Given the description of an element on the screen output the (x, y) to click on. 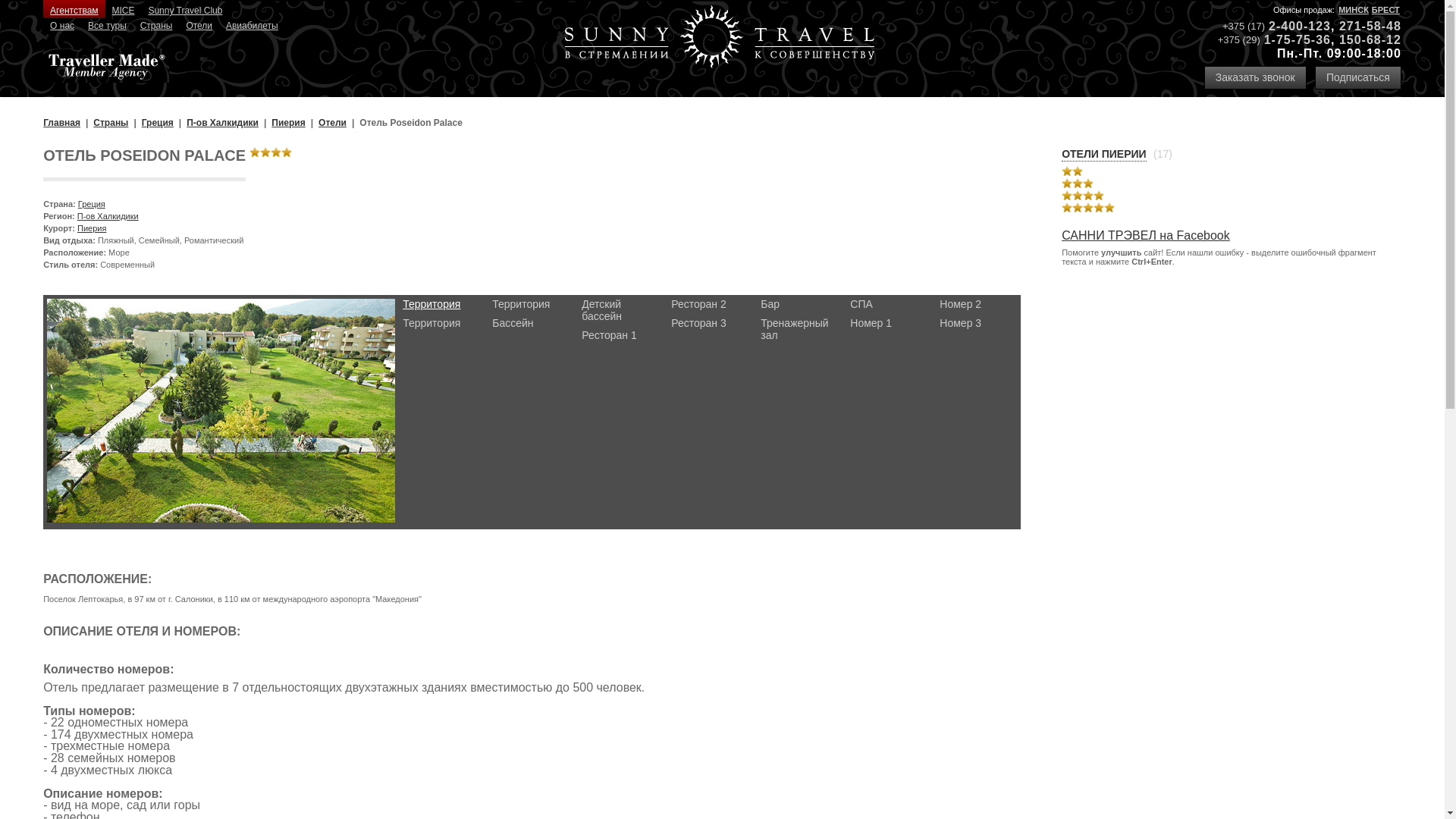
MICE Element type: text (123, 9)
271-58-48 Element type: text (1370, 25)
Sunny Travel Club Element type: text (185, 9)
2-400-123 Element type: text (1299, 25)
150-68-12 Element type: text (1370, 39)
1-75-75-36 Element type: text (1297, 39)
